Given the description of an element on the screen output the (x, y) to click on. 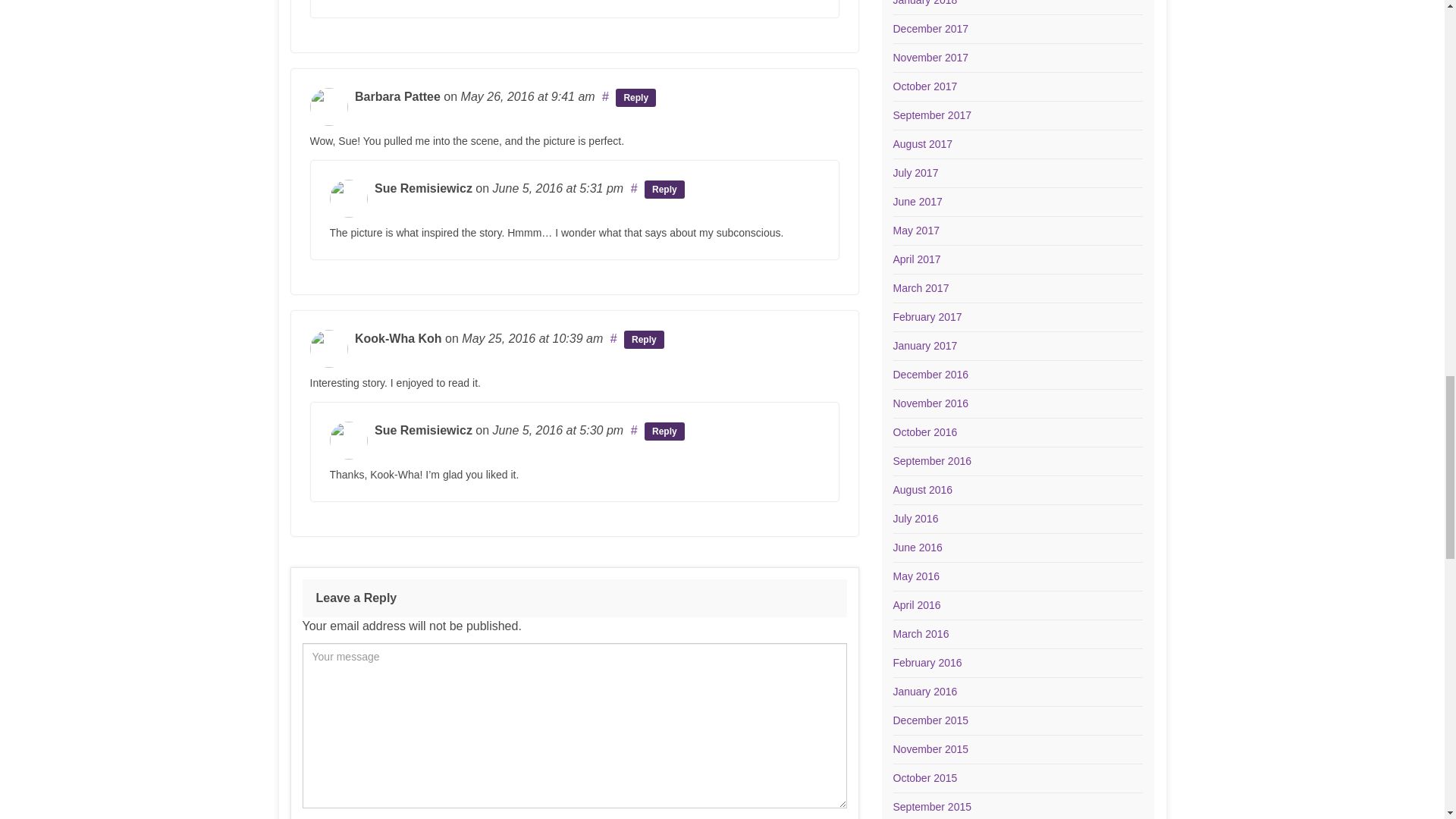
Reply (664, 431)
Reply (643, 339)
Reply (664, 189)
Reply (635, 97)
